Given the description of an element on the screen output the (x, y) to click on. 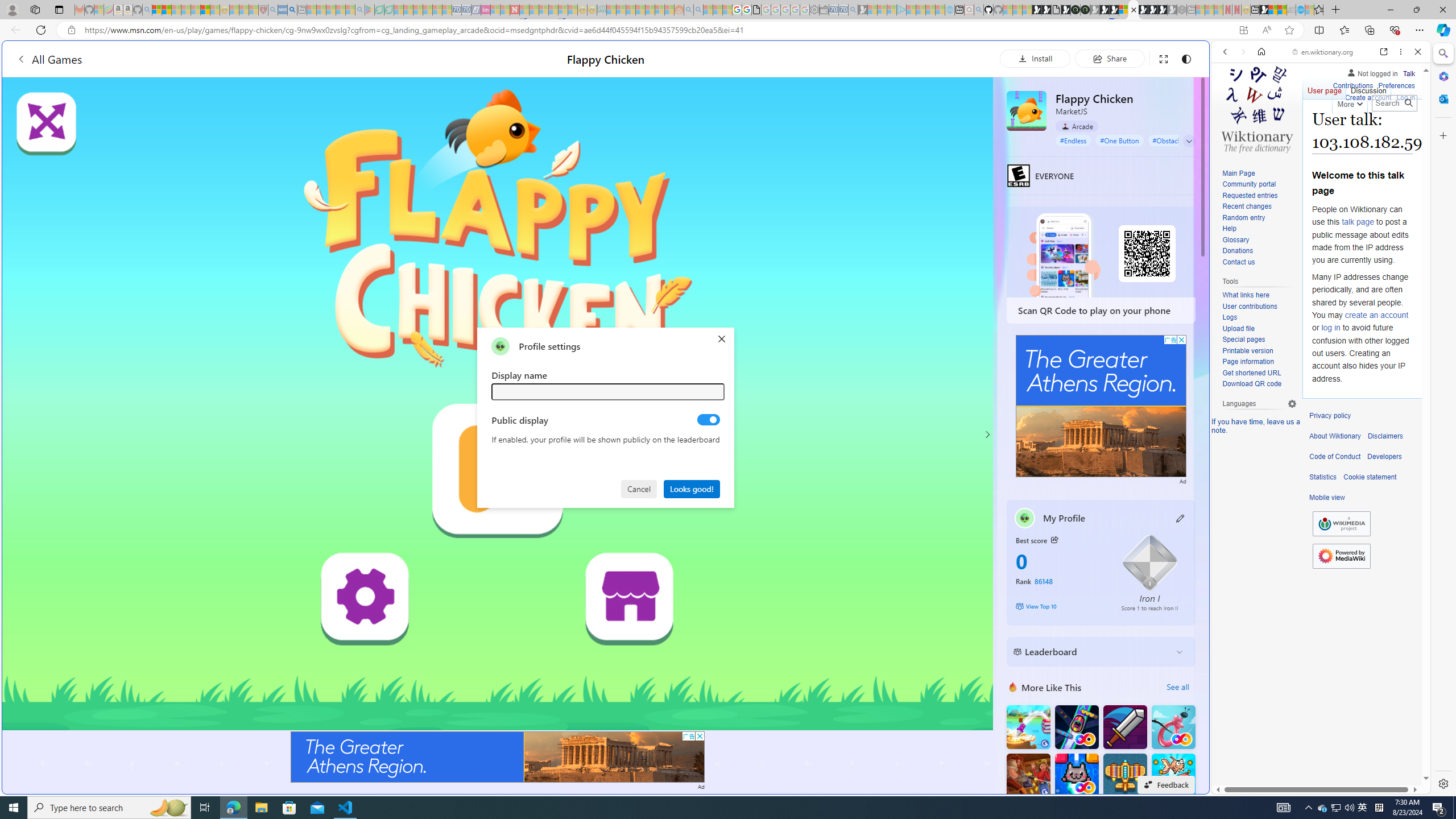
utah sues federal government - Search (291, 9)
Disclaimers (1385, 436)
Future Focus Report 2024 (1084, 9)
Utah sues federal government - Search - Sleeping (697, 9)
Get shortened URL (1251, 372)
What links here (1245, 295)
Flappy Chicken (1026, 110)
WEB   (1230, 130)
Visit the main page (1257, 108)
